Given the description of an element on the screen output the (x, y) to click on. 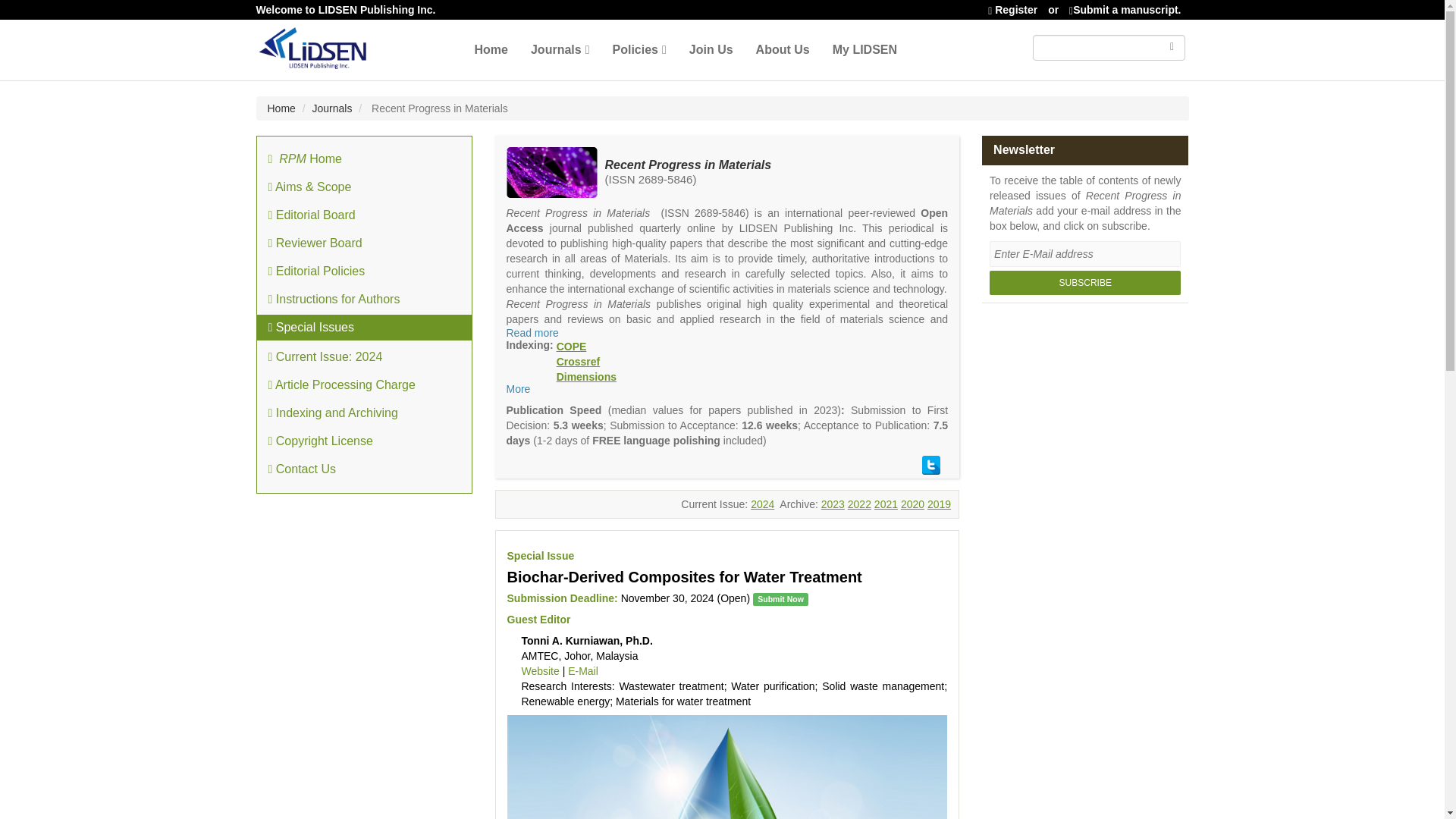
 Editorial Board (363, 215)
subscribe (1085, 282)
About Us (782, 49)
Submit a manuscript. (1124, 9)
Policies (638, 49)
Home (280, 108)
 Special Issues (363, 327)
Journals (332, 108)
Enter email address (1085, 253)
 Reviewer Board (363, 243)
